Given the description of an element on the screen output the (x, y) to click on. 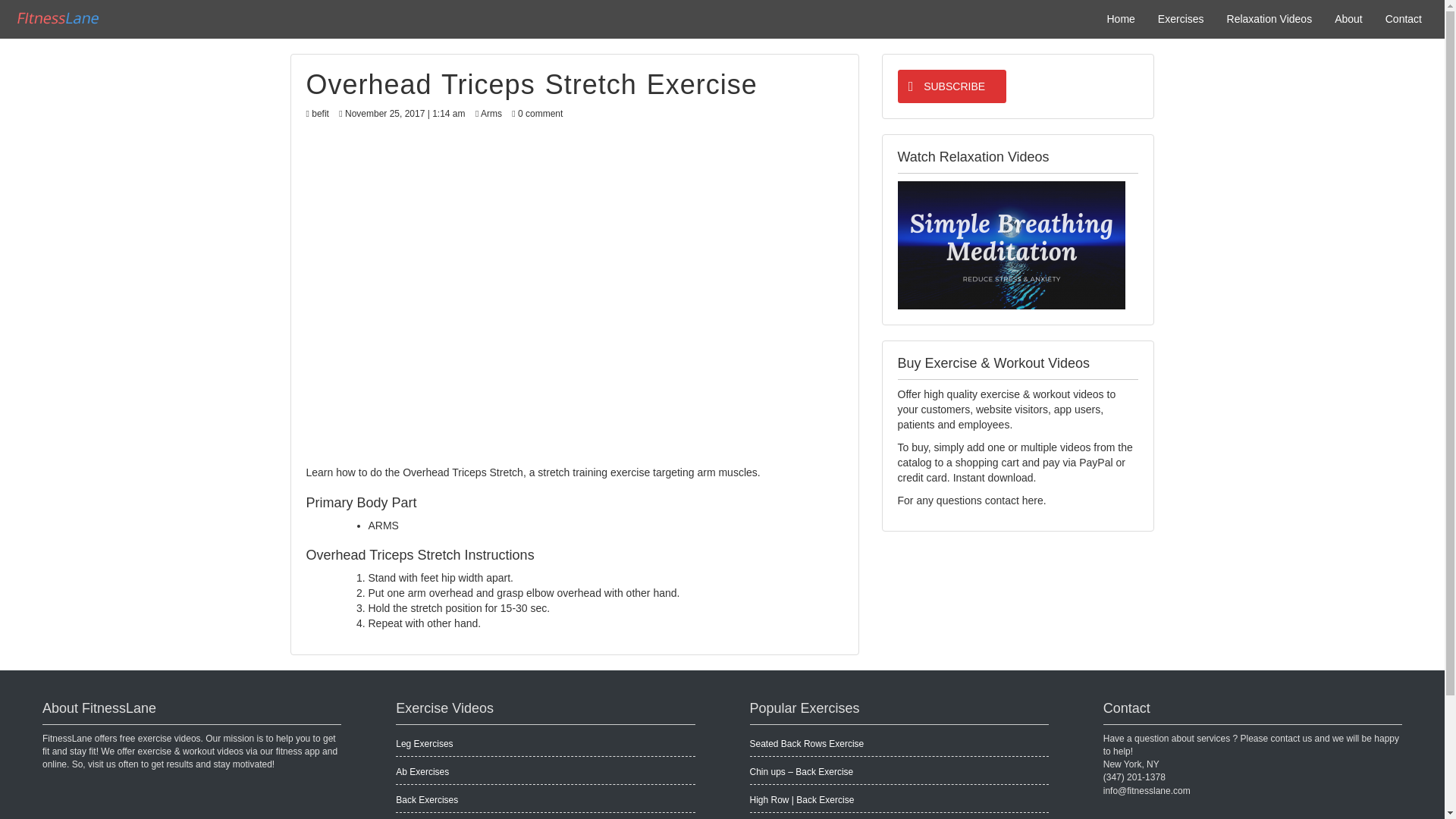
Relaxation Videos (1269, 18)
Home (1119, 18)
Contact (1403, 18)
About (1348, 18)
Seated Back Rows Exercise (806, 743)
Exercises (1181, 18)
Contact (1403, 18)
About (1348, 18)
contact here (1014, 500)
Leg Exercises (424, 743)
